Given the description of an element on the screen output the (x, y) to click on. 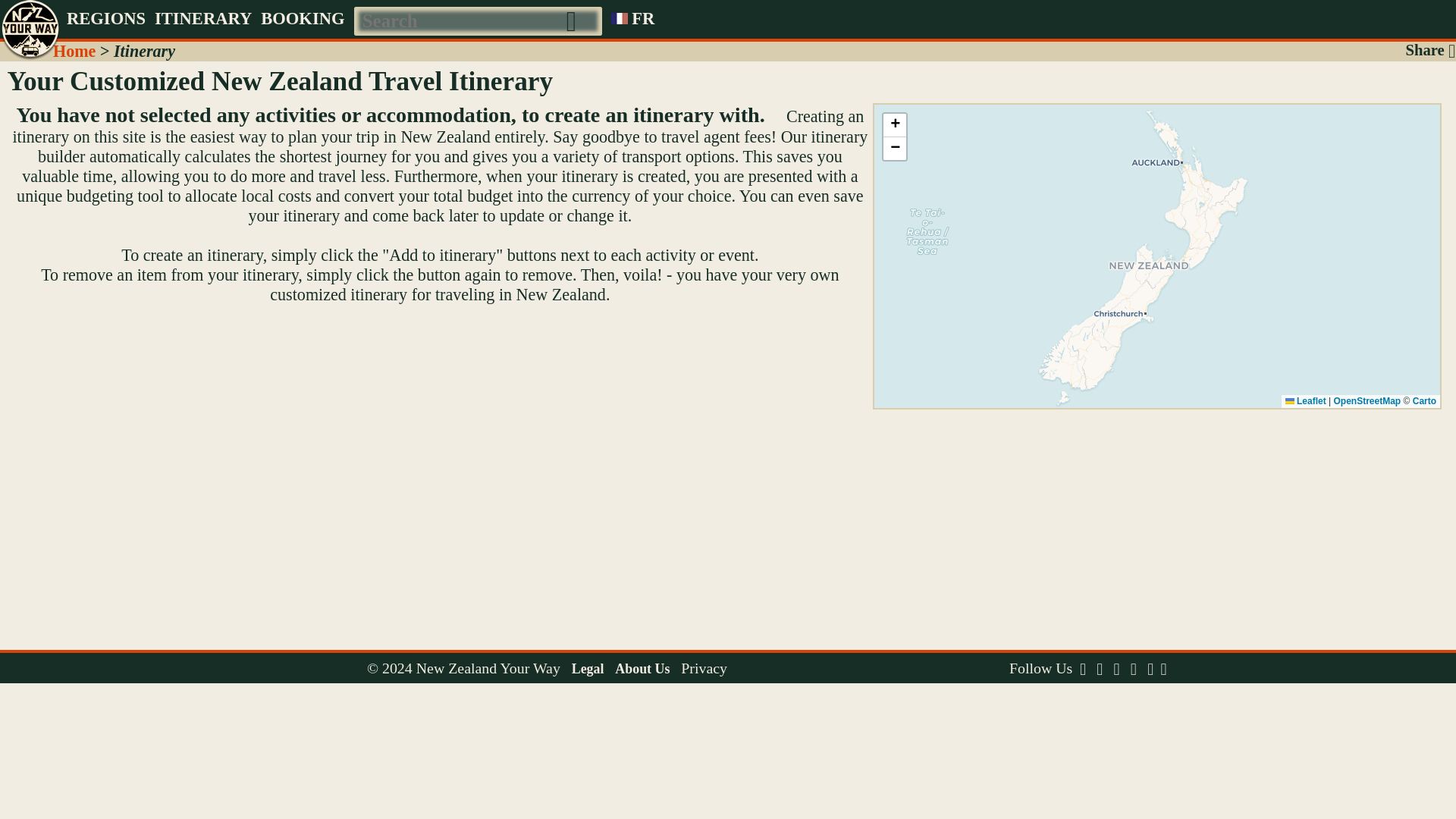
Home Page (31, 18)
Zoom in (894, 125)
A JavaScript library for interactive maps (1305, 400)
Zoom out (894, 148)
REGIONS (105, 18)
New Zealand travel itinerary planning at "NZ Your Way" (74, 50)
 Search (584, 19)
ITINERARY (202, 18)
